Given the description of an element on the screen output the (x, y) to click on. 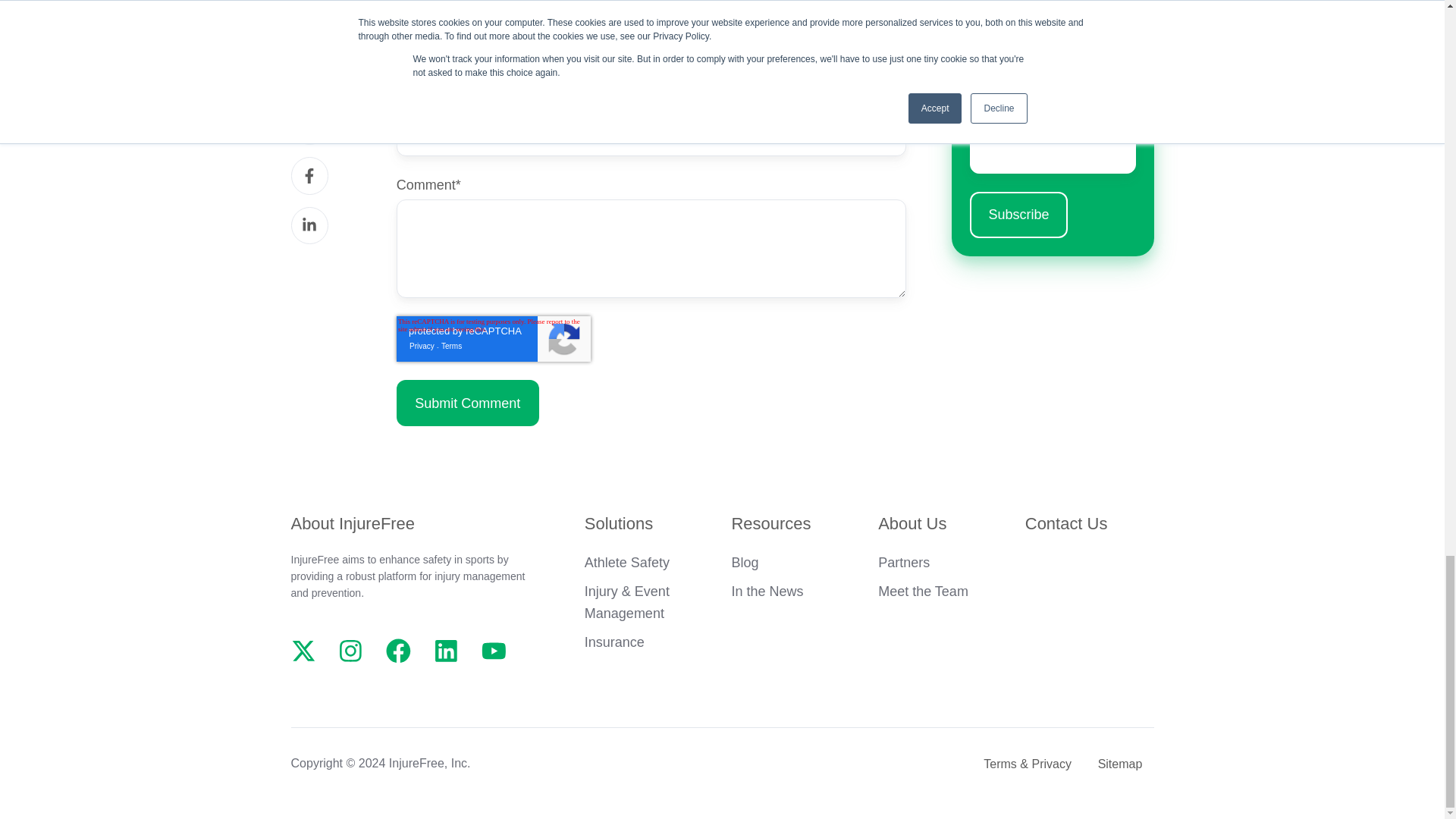
Submit Comment (467, 402)
reCAPTCHA (493, 338)
